Given the description of an element on the screen output the (x, y) to click on. 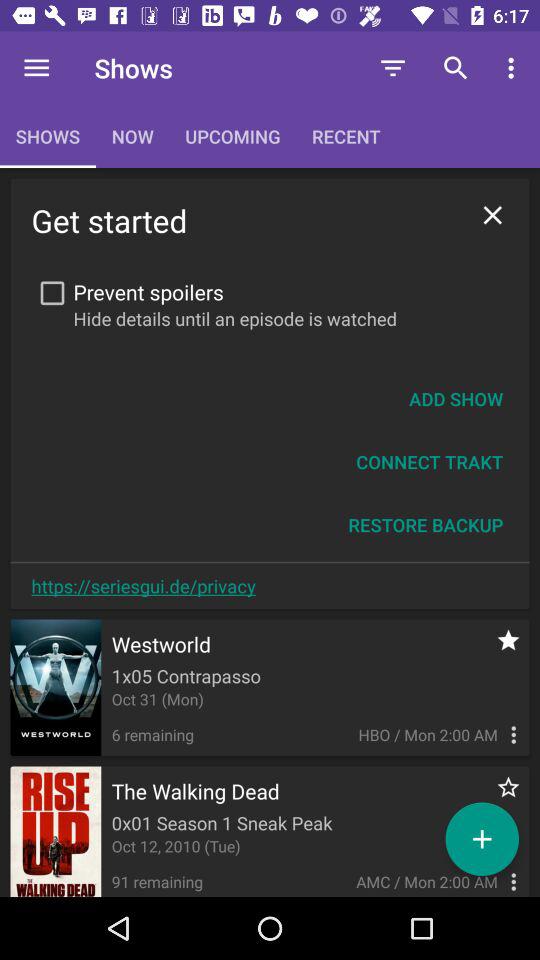
select the item next to the restore backup icon (143, 585)
